Given the description of an element on the screen output the (x, y) to click on. 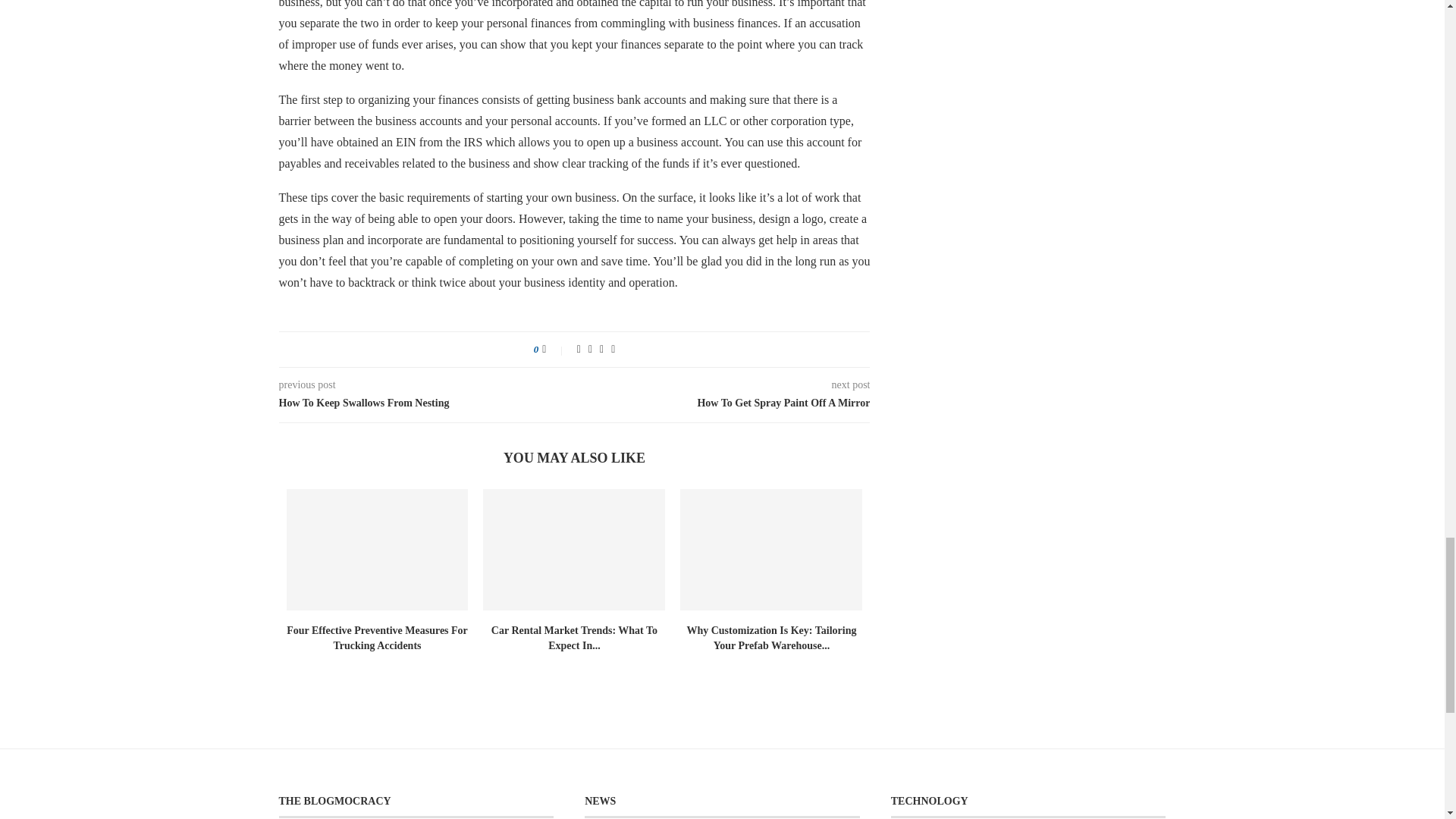
Why Customization Is Key: Tailoring Your Prefab Warehouse... (770, 637)
Four Effective Preventive Measures For Trucking Accidents (377, 549)
How To Get Spray Paint Off A Mirror (722, 403)
How To Keep Swallows From Nesting (427, 403)
Like (553, 349)
Four Effective Preventive Measures For Trucking Accidents (376, 637)
Car Rental Market Trends: What To Expect In... (575, 637)
